Given the description of an element on the screen output the (x, y) to click on. 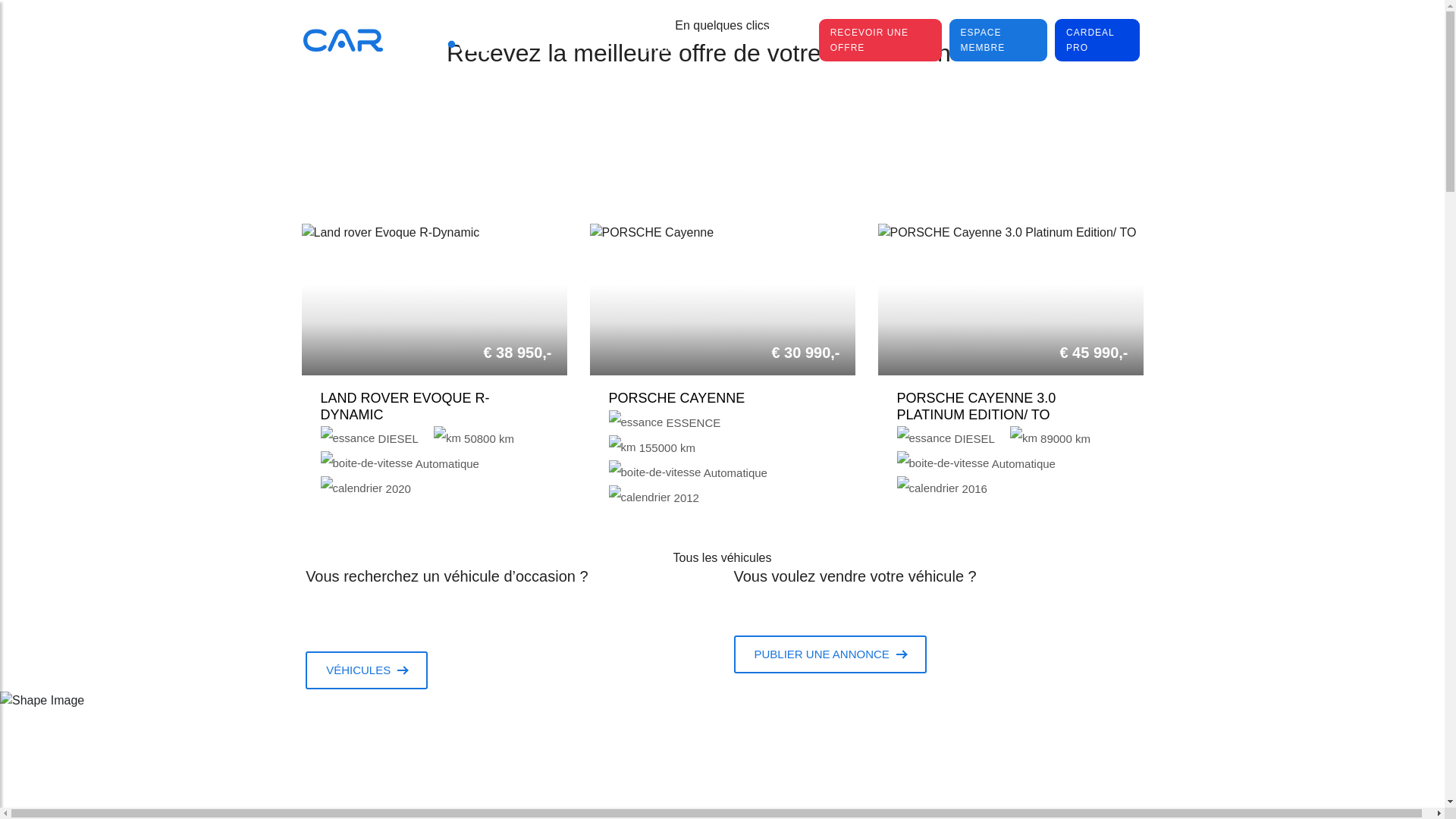
A propos Element type: text (663, 39)
Contact Element type: text (783, 32)
CARDEAL PRO Element type: text (1096, 39)
Articles Element type: text (722, 32)
LAND ROVER EVOQUE R-DYNAMIC Element type: text (404, 406)
PUBLIER UNE ANNONCE Element type: text (830, 654)
PORSCHE CAYENNE Element type: text (676, 397)
ESPACE MEMBRE Element type: text (998, 39)
Accueil Element type: text (531, 32)
PORSCHE CAYENNE 3.0 PLATINUM EDITION/ TO Element type: text (975, 406)
RECEVOIR UNE OFFRE Element type: text (880, 39)
